Given the description of an element on the screen output the (x, y) to click on. 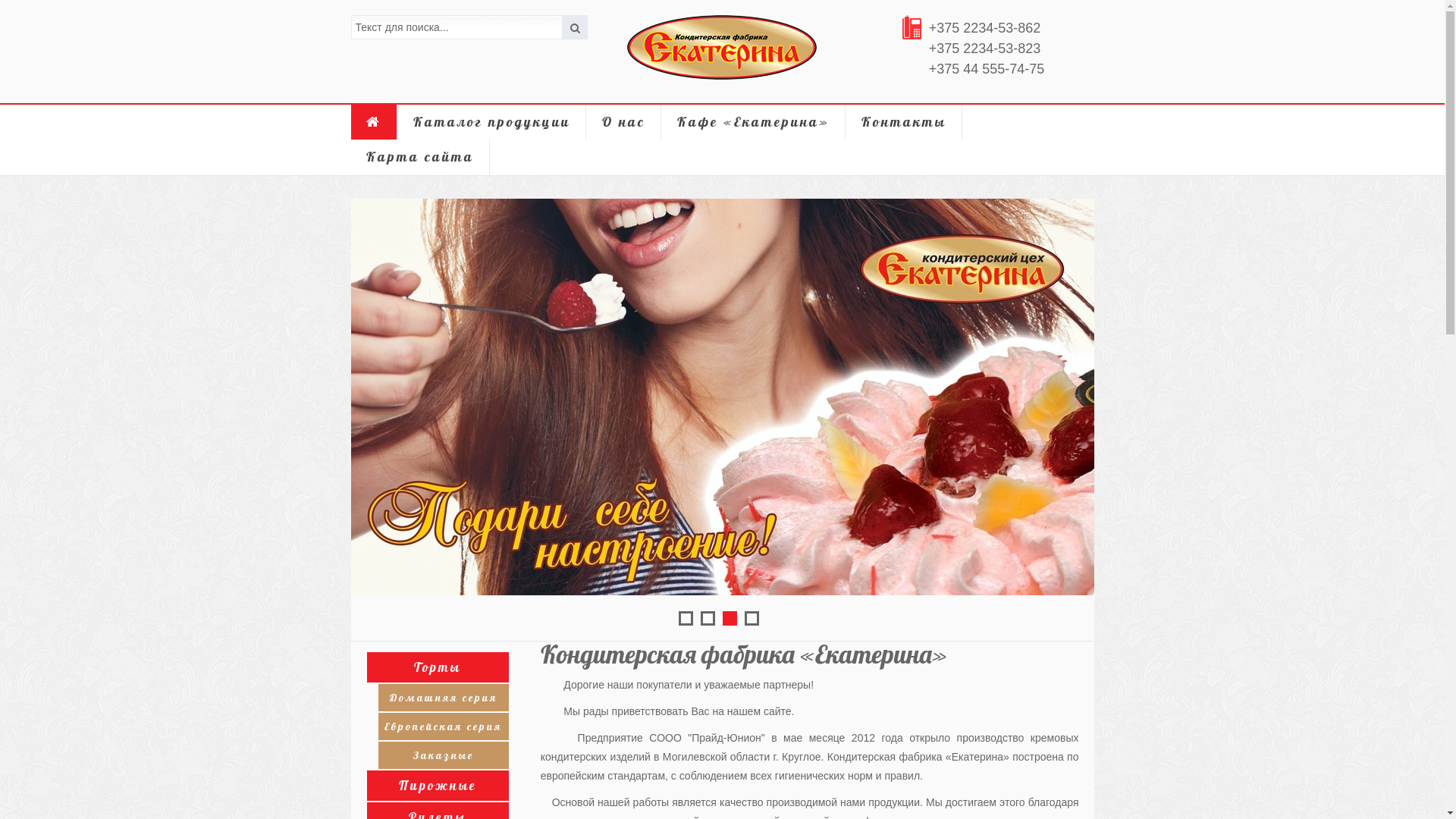
2 Element type: text (707, 618)
Banner3 Element type: hover (721, 396)
3 Element type: text (728, 618)
1 Element type: text (684, 618)
4 Element type: text (751, 618)
